Given the description of an element on the screen output the (x, y) to click on. 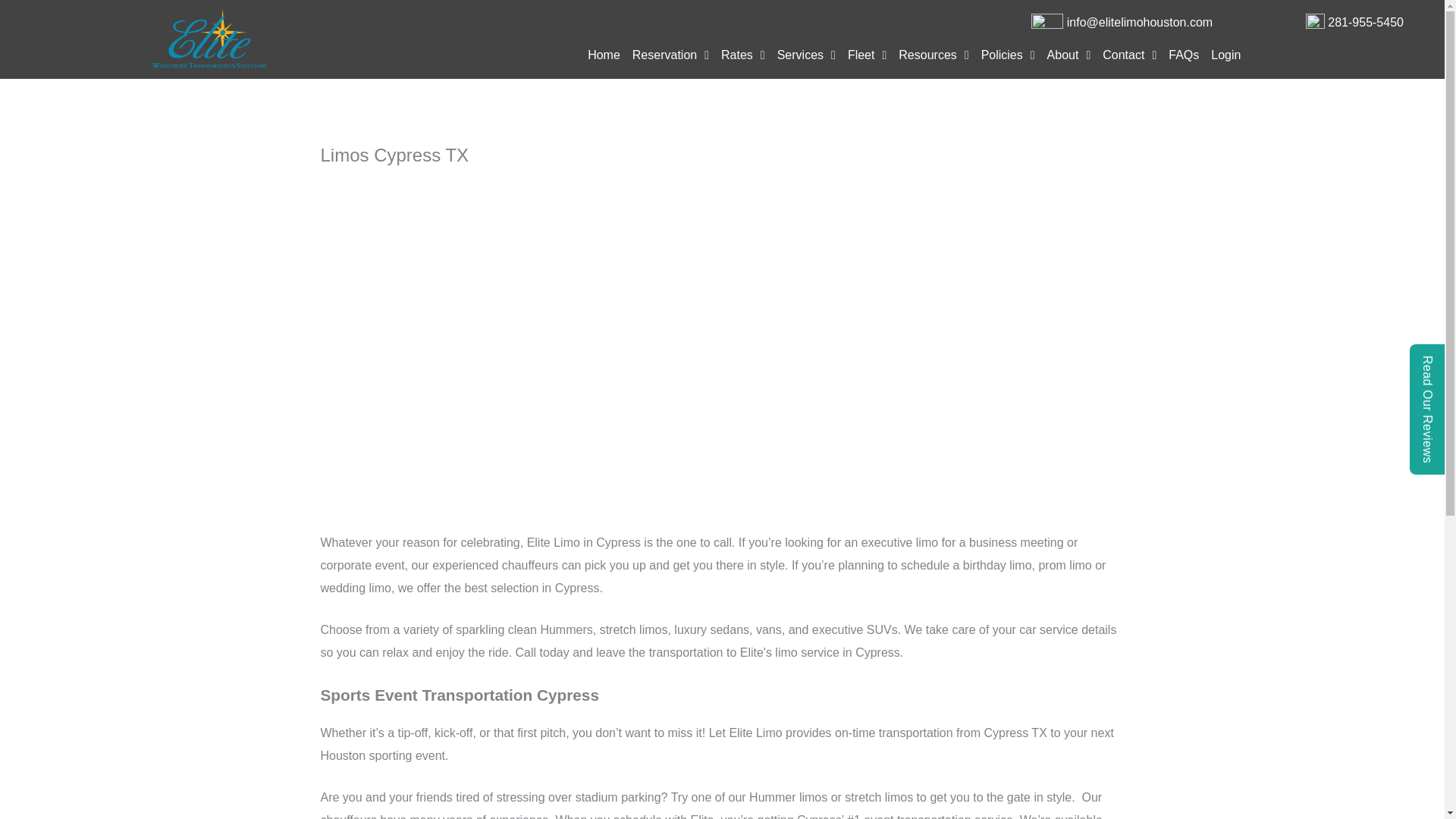
Rates (742, 55)
Policies (1008, 55)
Services (806, 55)
Resources (933, 55)
Home (603, 55)
Elite logo (209, 39)
Fleet (866, 55)
Reservation (670, 55)
